Given the description of an element on the screen output the (x, y) to click on. 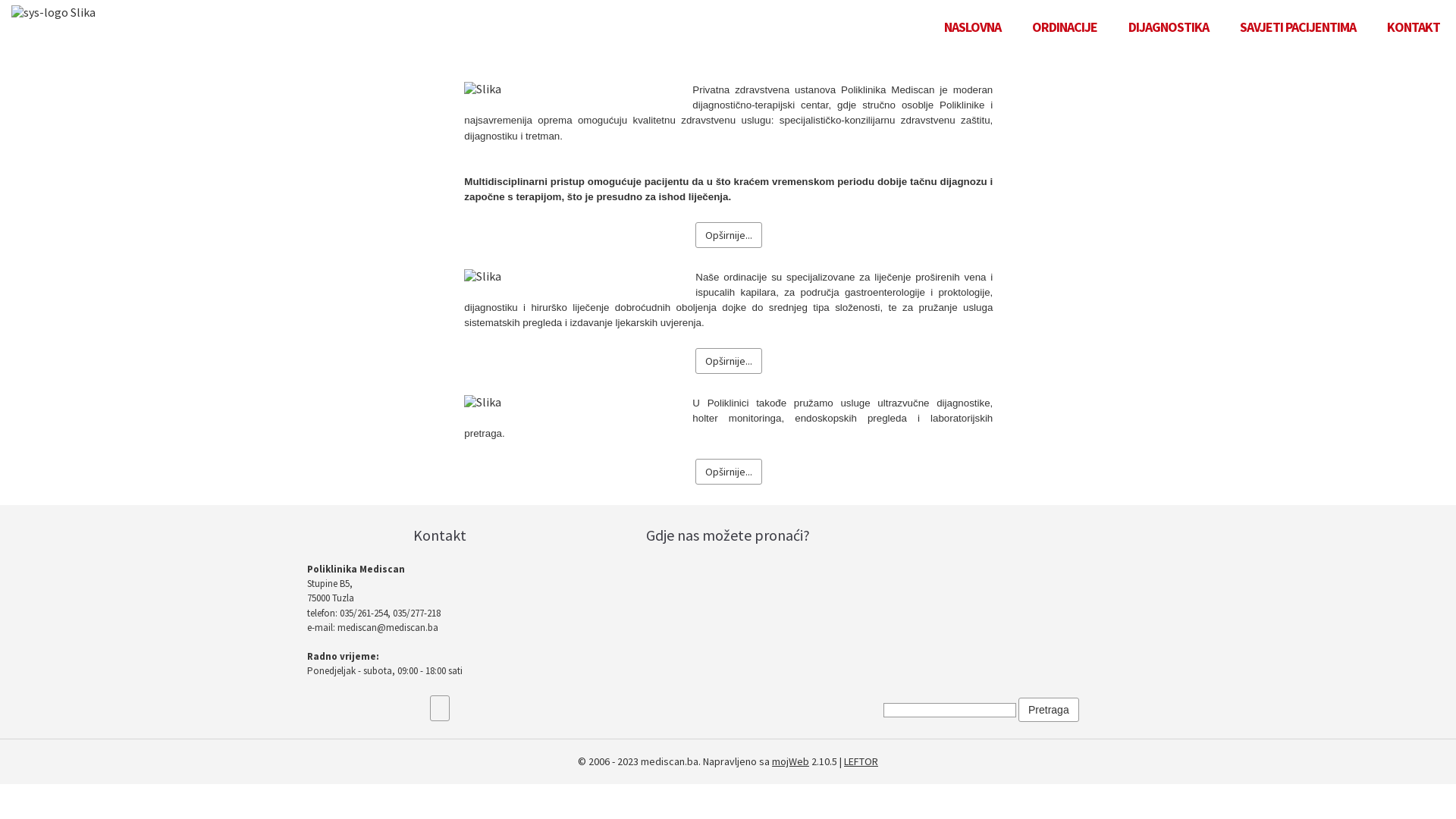
SAVJETI PACIJENTIMA Element type: text (1297, 26)
LEFTOR Element type: text (861, 761)
mojWeb Element type: text (790, 761)
KONTAKT Element type: text (1413, 26)
Pretraga Element type: text (1048, 709)
NASLOVNA Element type: text (972, 26)
ORDINACIJE Element type: text (1064, 26)
DIJAGNOSTIKA Element type: text (1168, 26)
